Given the description of an element on the screen output the (x, y) to click on. 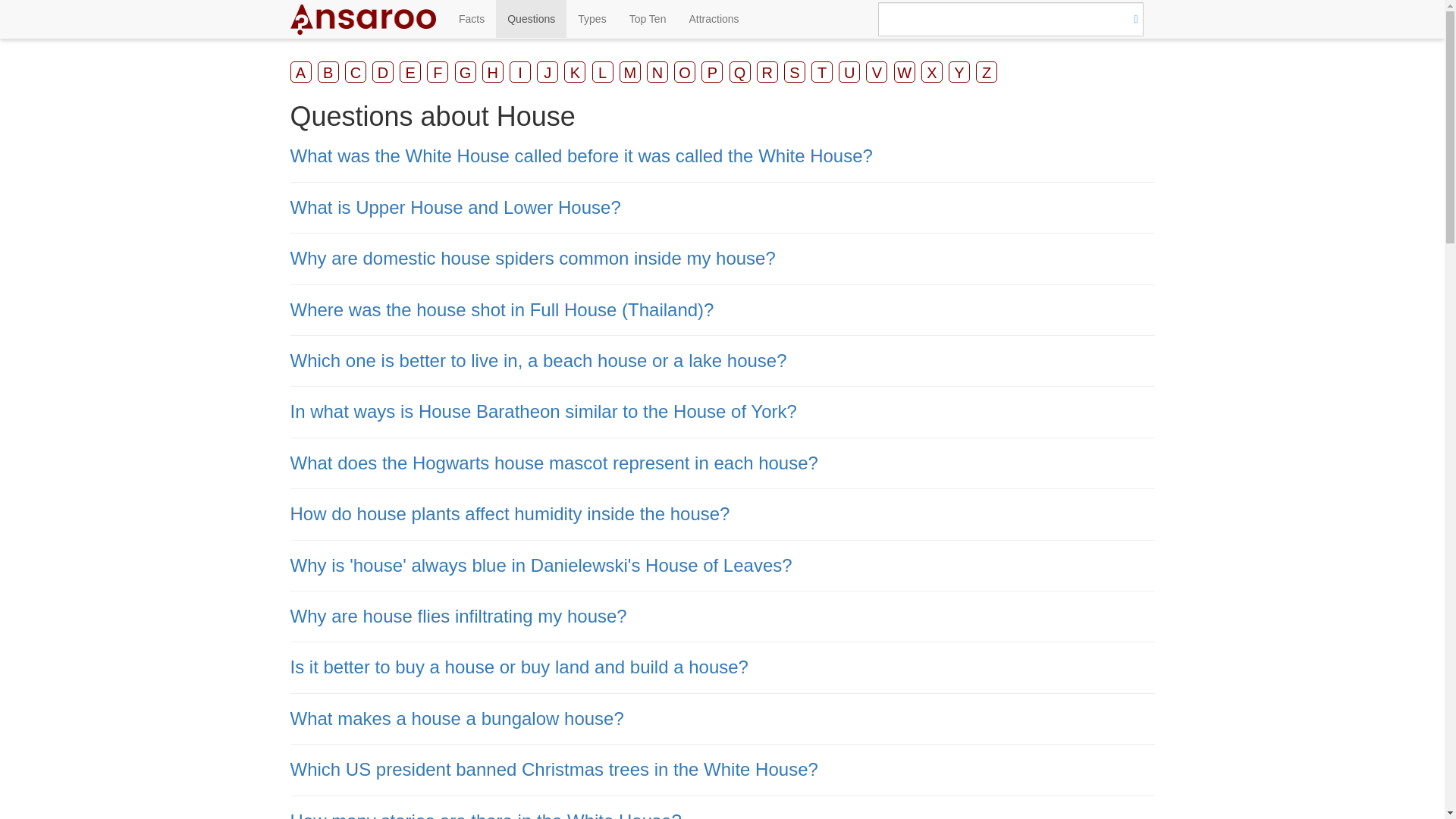
E (409, 71)
D (382, 71)
Attractions (713, 18)
R (767, 71)
G (465, 71)
U (849, 71)
W (904, 71)
O (684, 71)
Y (959, 71)
K (574, 71)
Why are domestic house spiders common inside my house? (531, 258)
X (931, 71)
Q (740, 71)
Facts (471, 18)
